Given the description of an element on the screen output the (x, y) to click on. 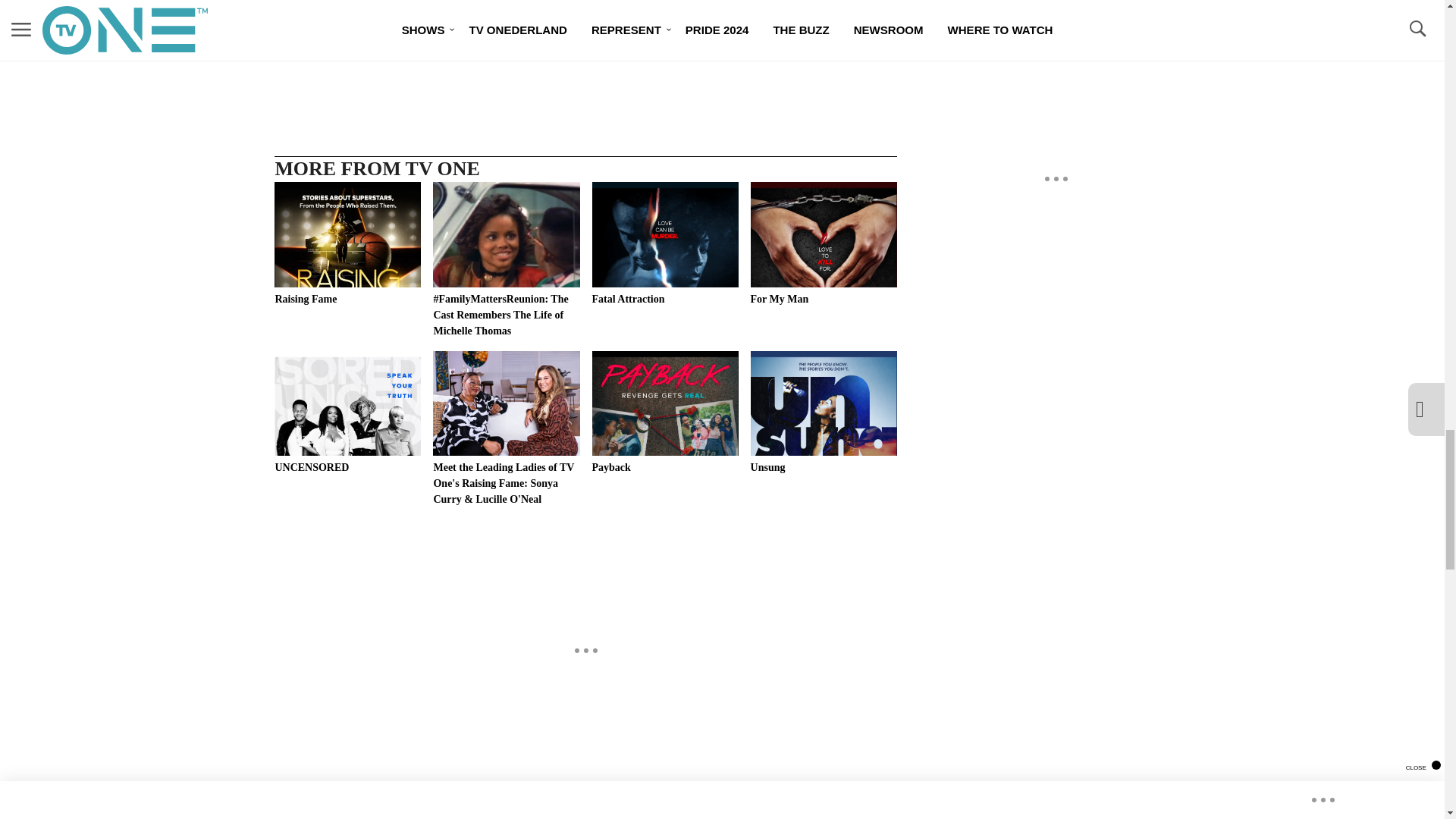
WHAT'S HAPPENING (382, 17)
Vuukle Sharebar Widget (585, 56)
Vuukle Comments Widget (585, 806)
